Given the description of an element on the screen output the (x, y) to click on. 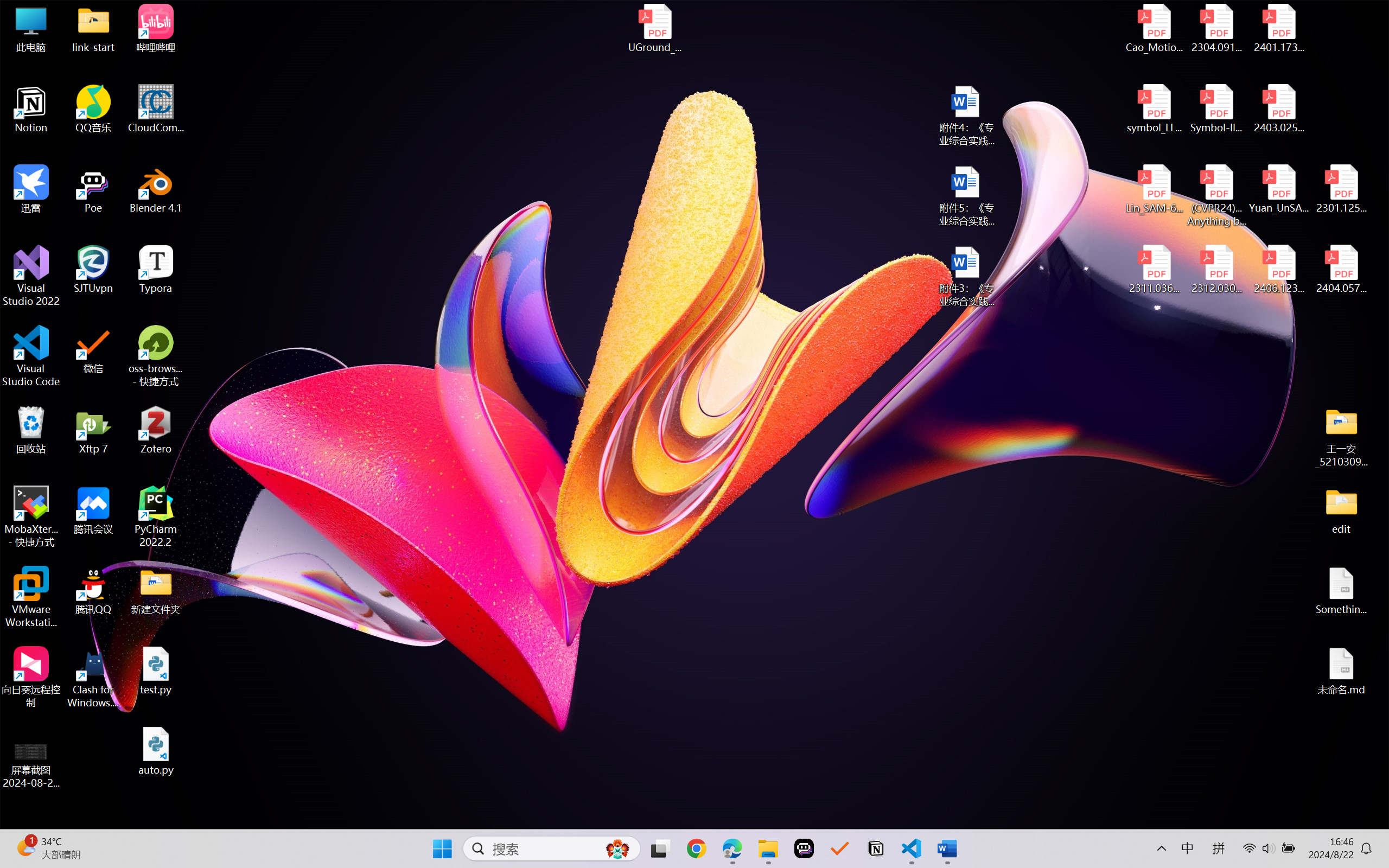
CloudCompare (156, 109)
VMware Workstation Pro (31, 597)
